Given the description of an element on the screen output the (x, y) to click on. 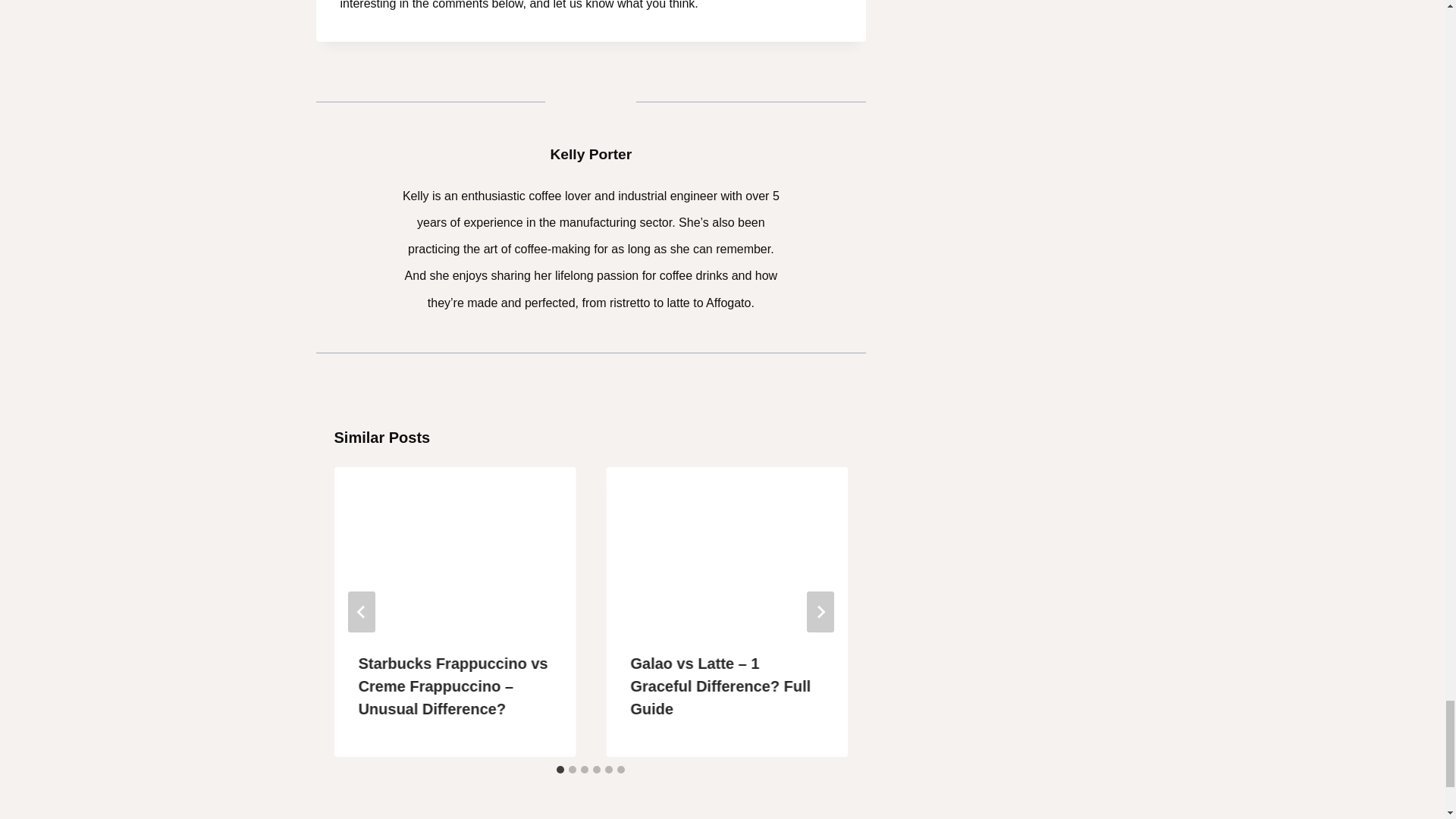
Posts by Kelly Porter (590, 154)
Kelly Porter (590, 154)
